Given the description of an element on the screen output the (x, y) to click on. 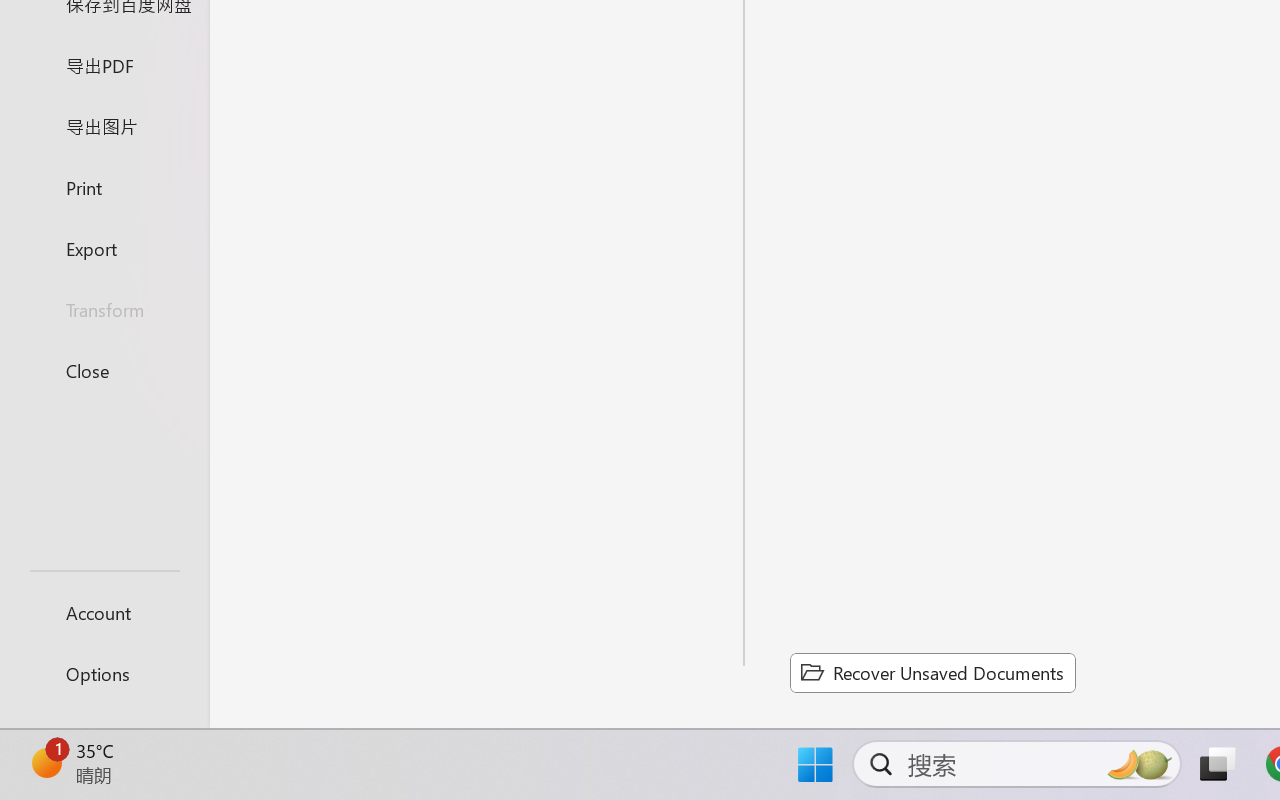
Options (104, 673)
Print (104, 186)
Export (104, 248)
Transform (104, 309)
Recover Unsaved Documents (932, 672)
Account (104, 612)
